Given the description of an element on the screen output the (x, y) to click on. 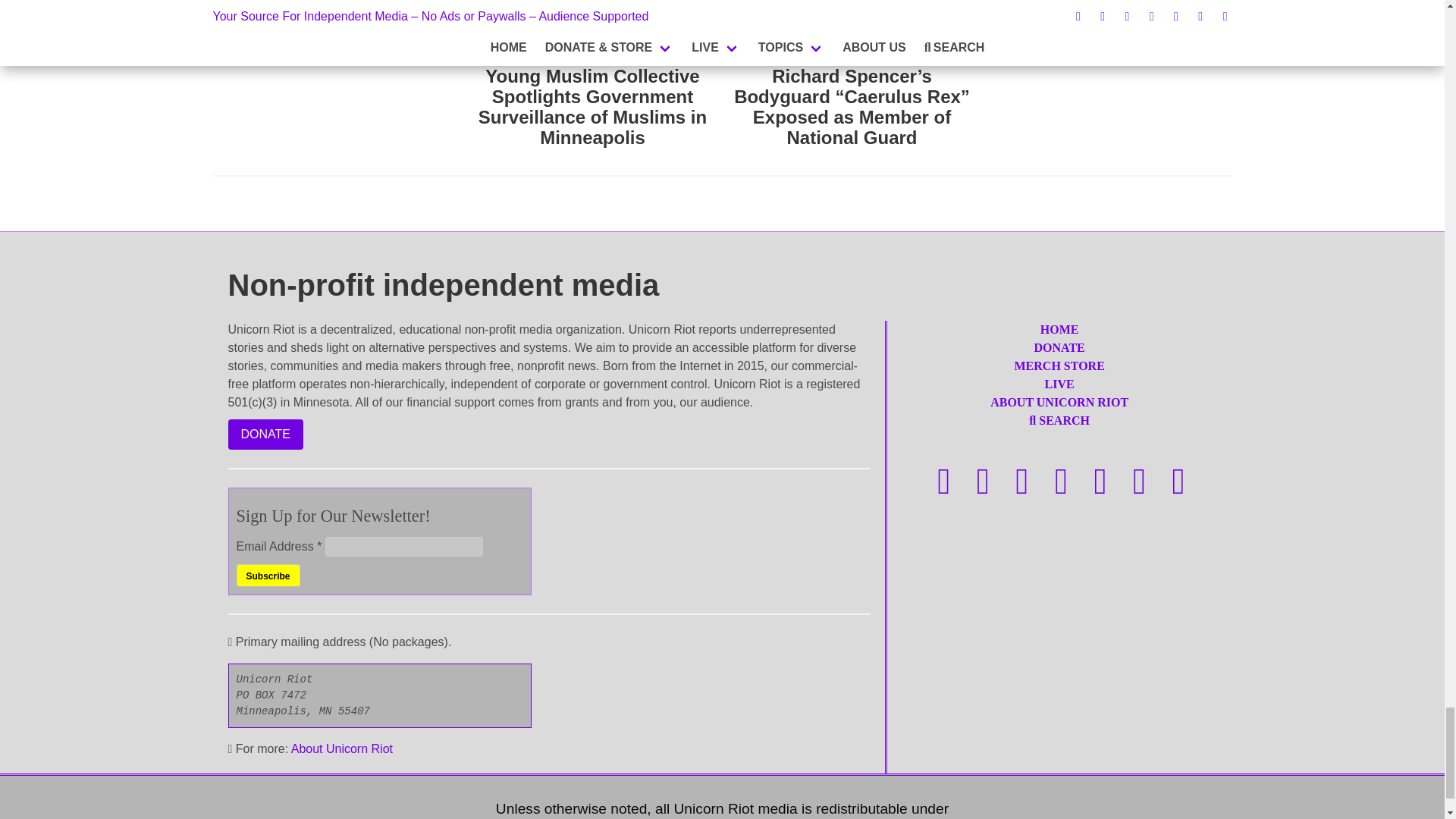
Subscribe (267, 575)
Donate to Unicorn Riot (264, 434)
